Given the description of an element on the screen output the (x, y) to click on. 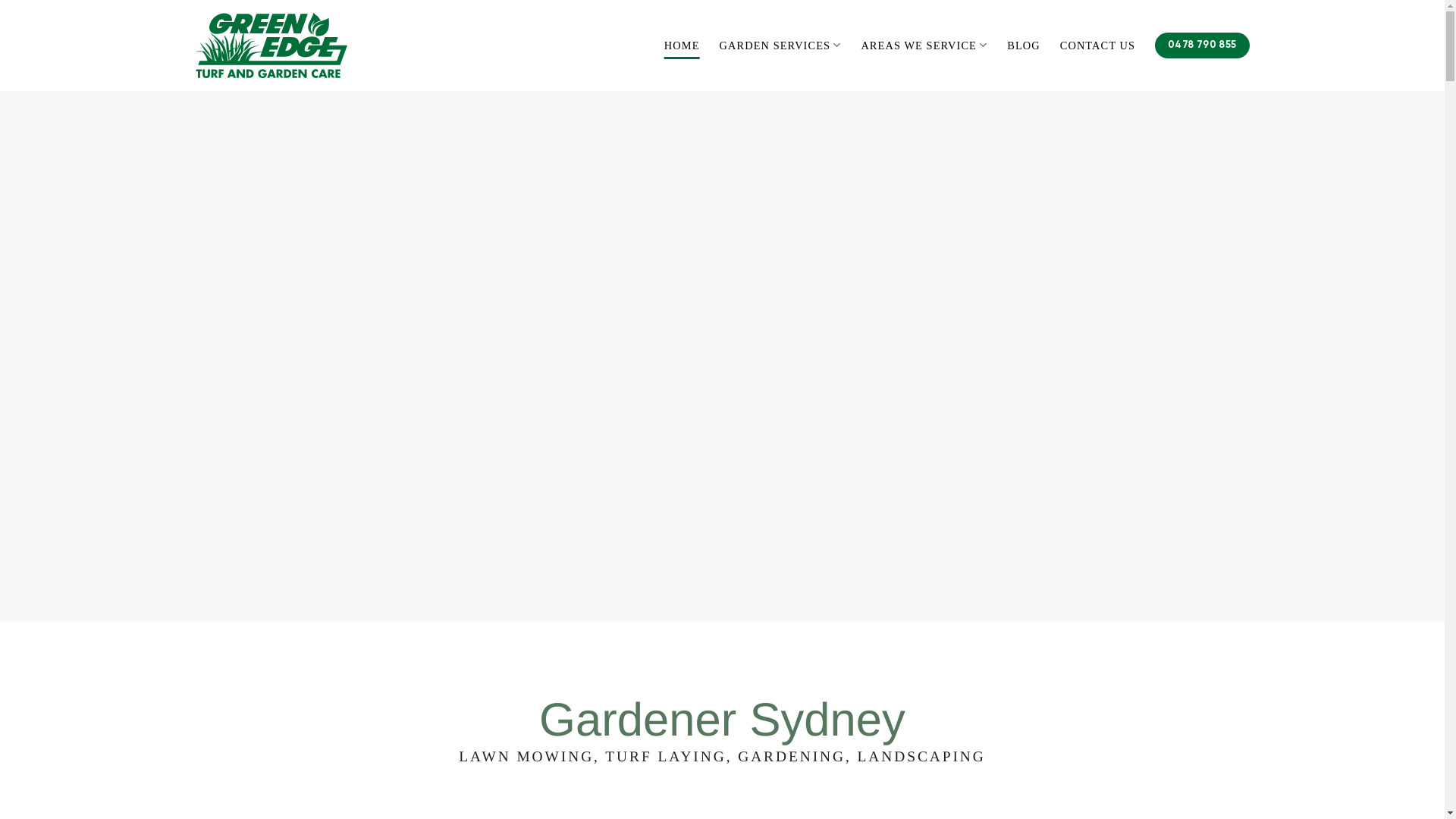
GreenEdge Turf & Lawn Care Element type: hover (271, 44)
AREAS WE SERVICE Element type: text (923, 44)
GARDEN SERVICES Element type: text (780, 44)
0478 790 855 Element type: text (1201, 45)
HOME Element type: text (681, 45)
BLOG Element type: text (1023, 45)
CONTACT US Element type: text (1097, 45)
